Given the description of an element on the screen output the (x, y) to click on. 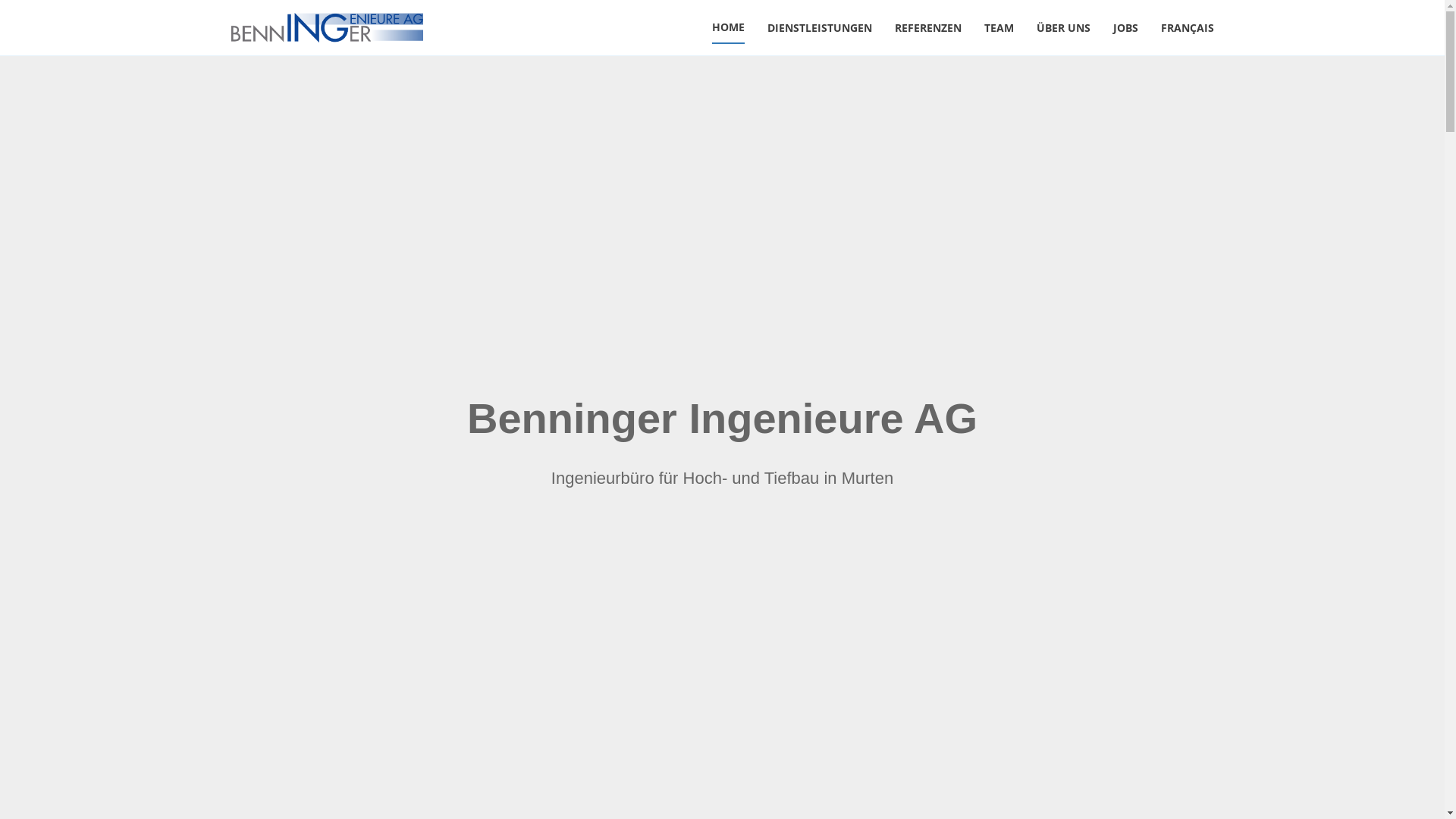
JOBS Element type: text (1125, 27)
DIENSTLEISTUNGEN Element type: text (819, 27)
HOME Element type: text (727, 27)
TEAM Element type: text (998, 27)
REFERENZEN Element type: text (927, 27)
